Given the description of an element on the screen output the (x, y) to click on. 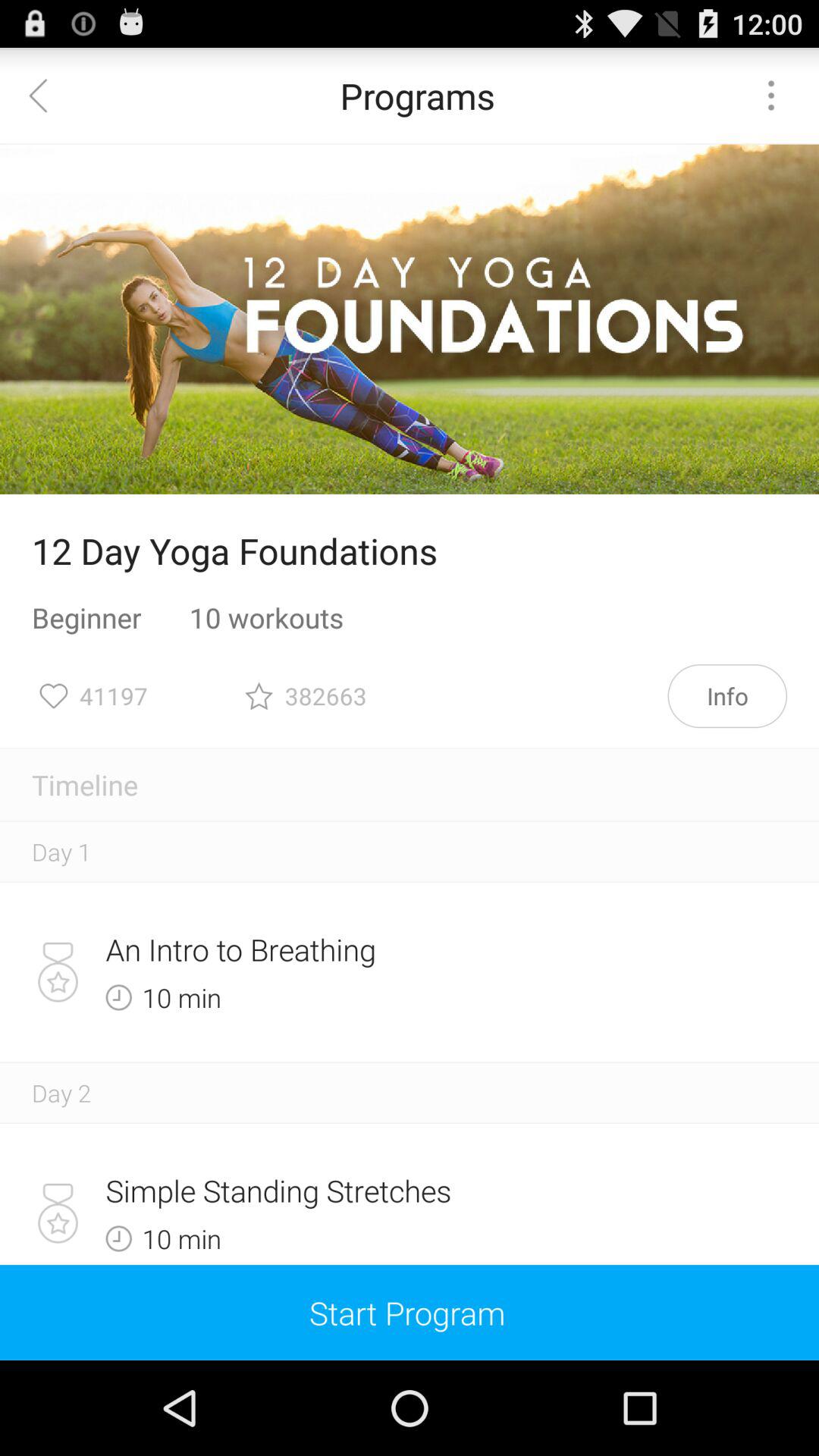
go back (47, 95)
